Given the description of an element on the screen output the (x, y) to click on. 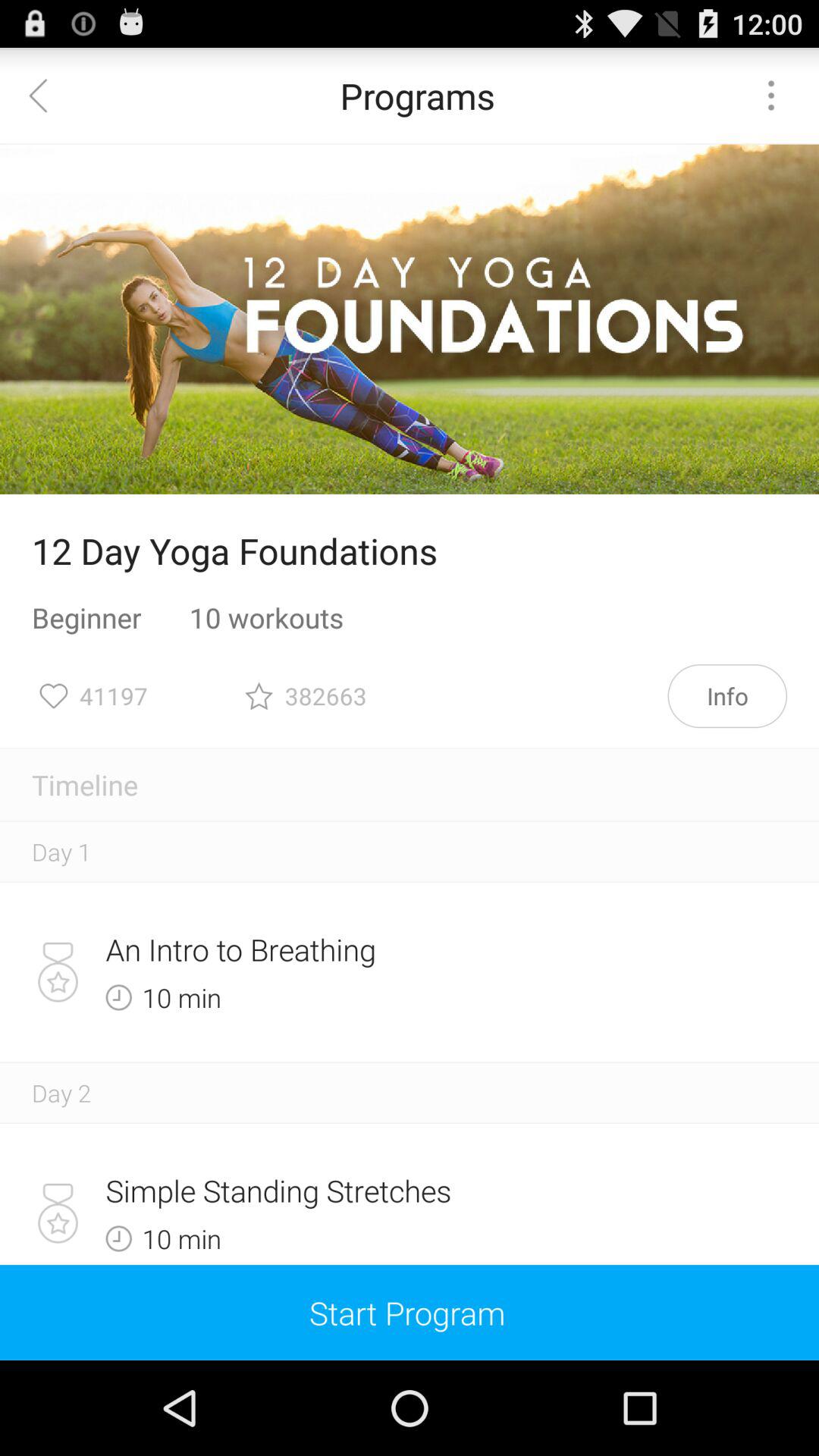
go back (47, 95)
